Given the description of an element on the screen output the (x, y) to click on. 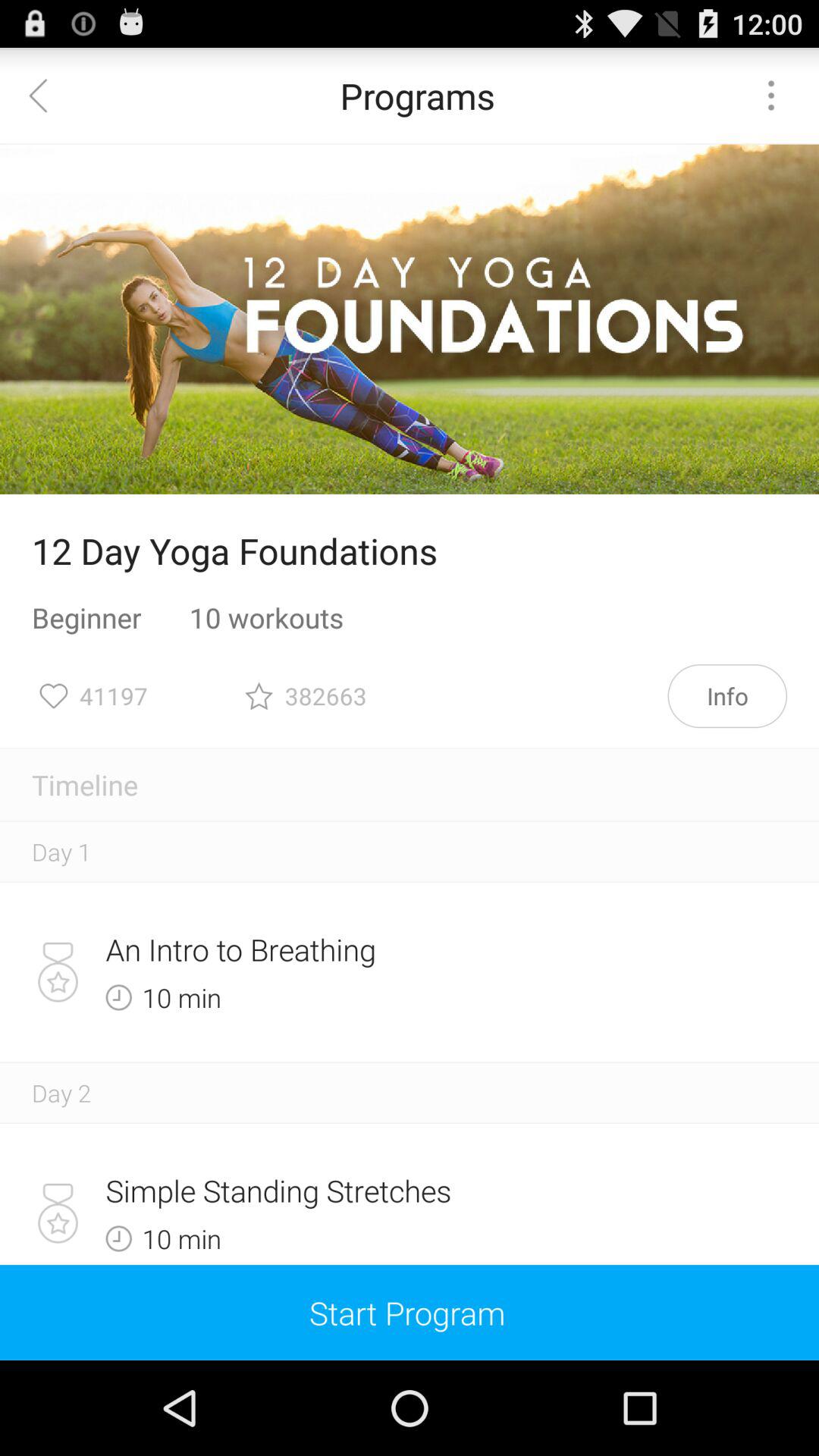
go back (47, 95)
